Given the description of an element on the screen output the (x, y) to click on. 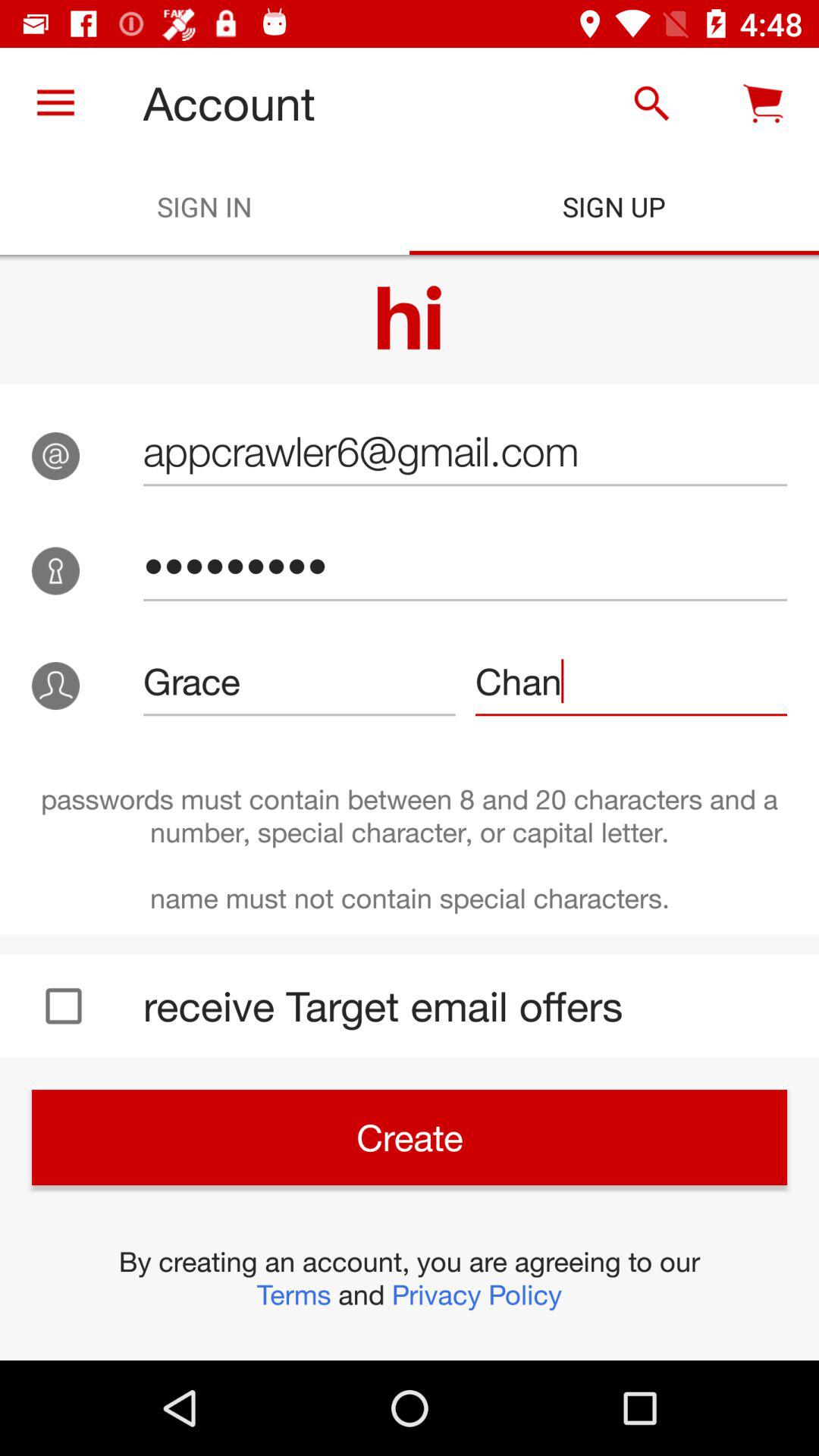
press icon to the left of account (55, 103)
